Given the description of an element on the screen output the (x, y) to click on. 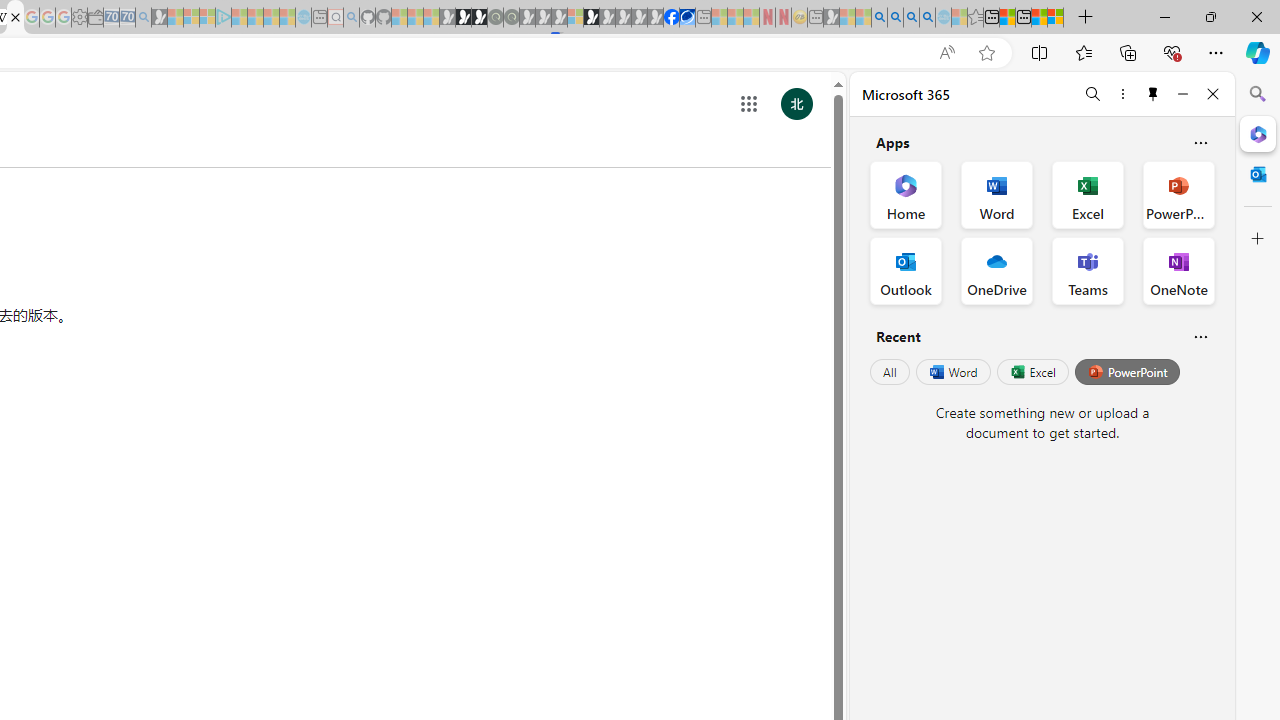
All (890, 372)
Nordace | Facebook (671, 17)
Is this helpful? (1200, 336)
Bing Real Estate - Home sales and rental listings - Sleeping (143, 17)
